Given the description of an element on the screen output the (x, y) to click on. 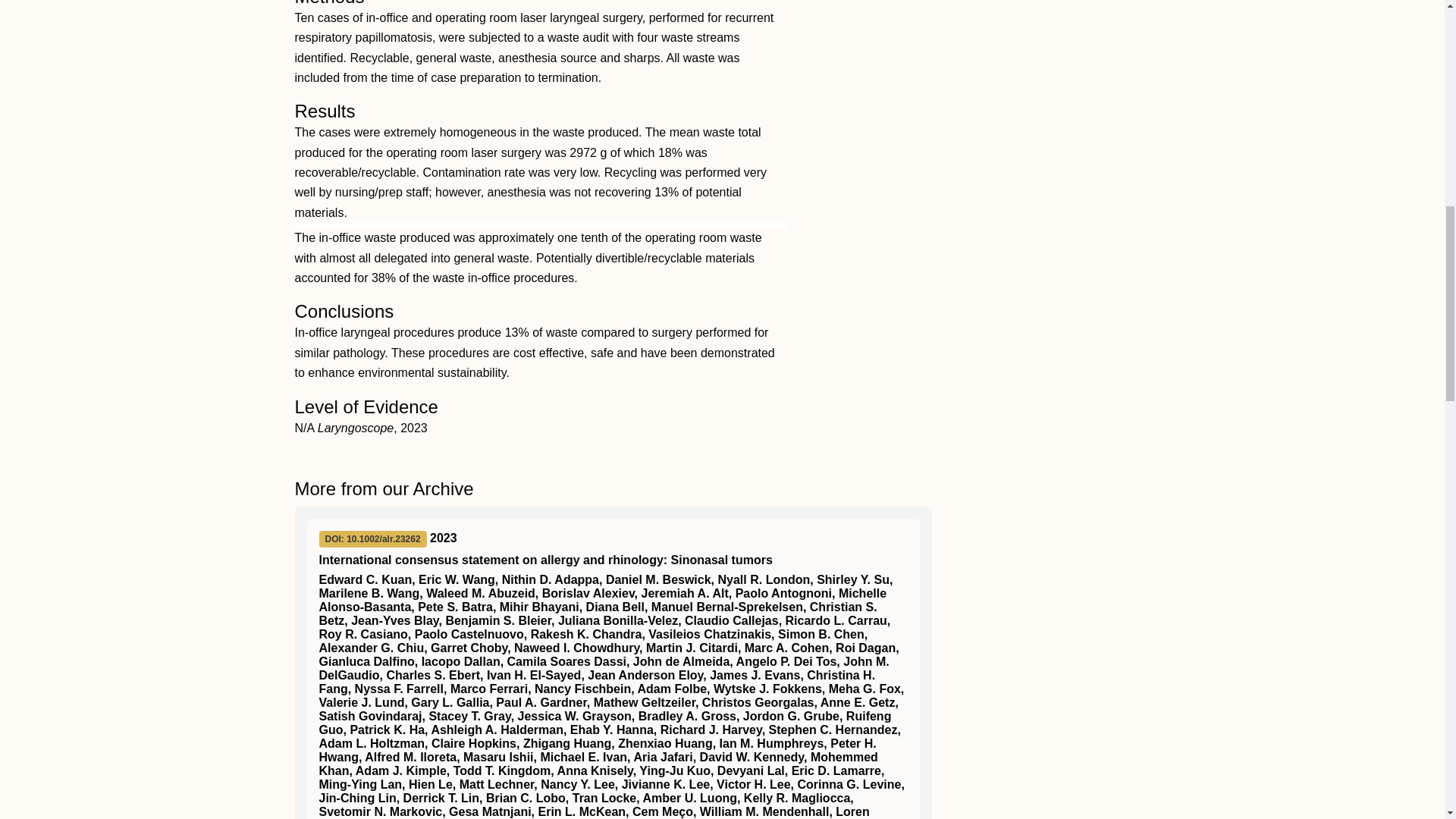
Advertisement (1049, 105)
